Given the description of an element on the screen output the (x, y) to click on. 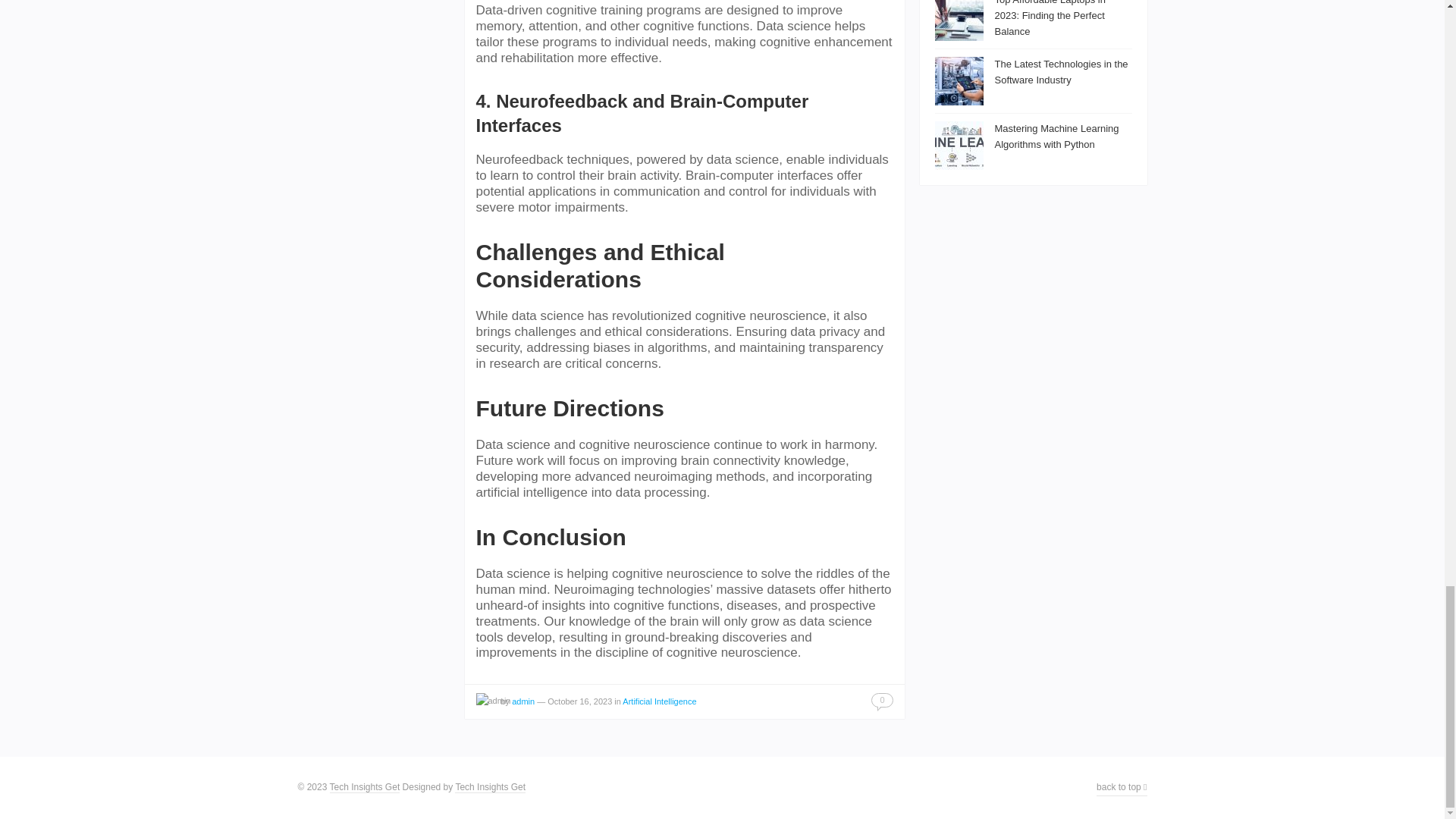
Artificial Intelligence (659, 700)
admin (523, 700)
0 (881, 699)
